Given the description of an element on the screen output the (x, y) to click on. 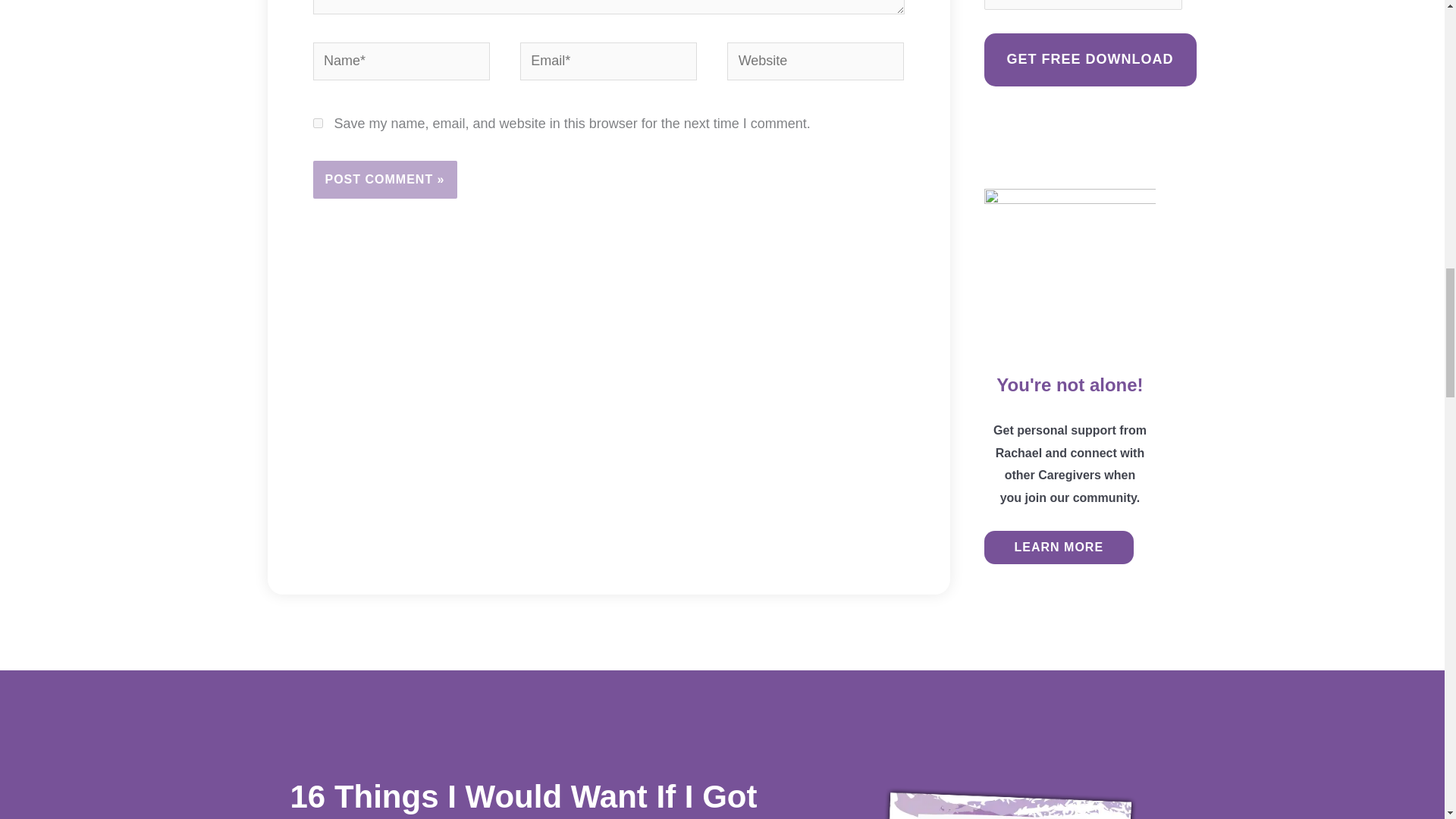
GET FREE DOWNLOAD (1090, 59)
yes (317, 122)
